Given the description of an element on the screen output the (x, y) to click on. 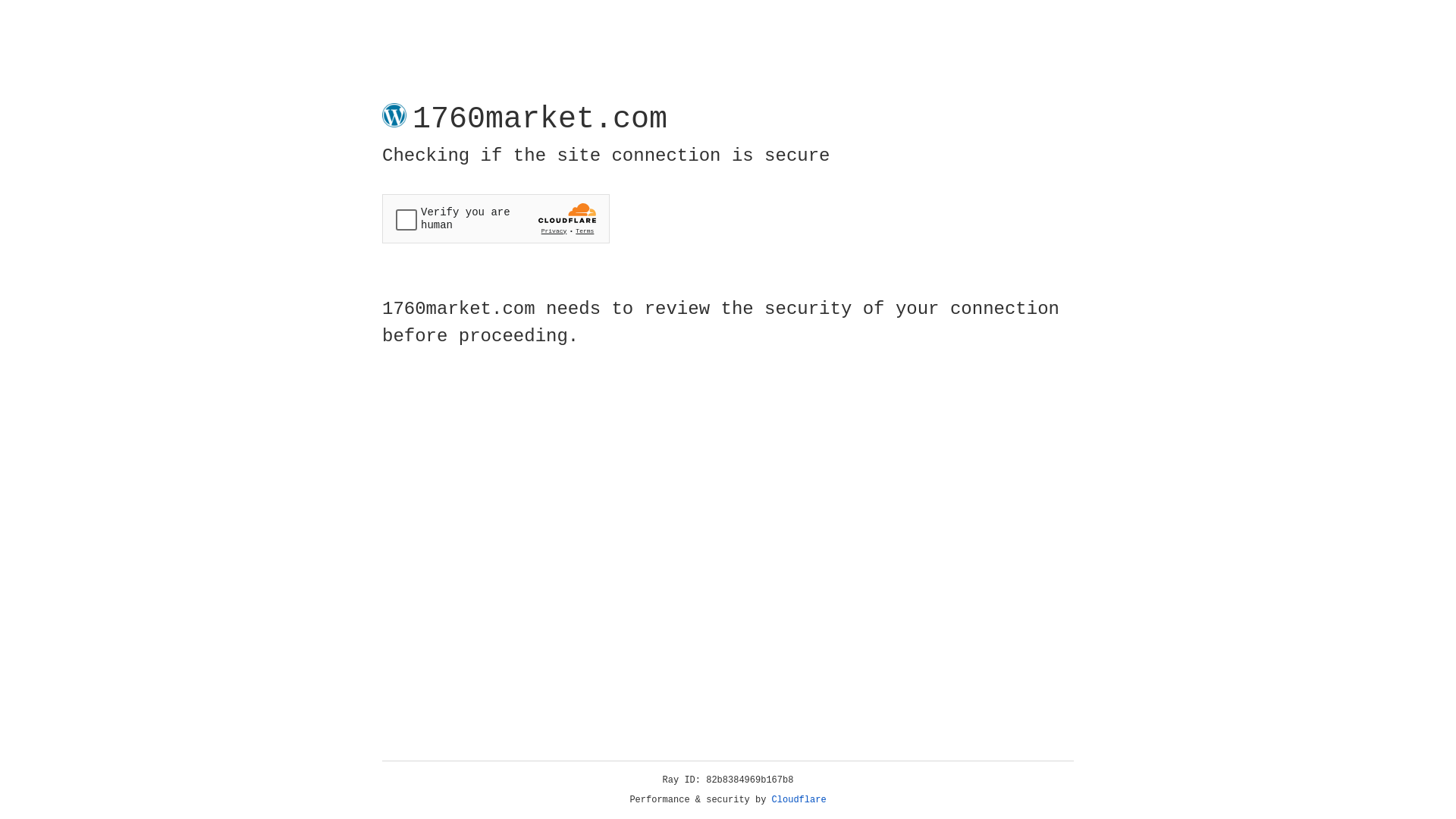
Cloudflare Element type: text (798, 799)
Widget containing a Cloudflare security challenge Element type: hover (495, 218)
